Given the description of an element on the screen output the (x, y) to click on. 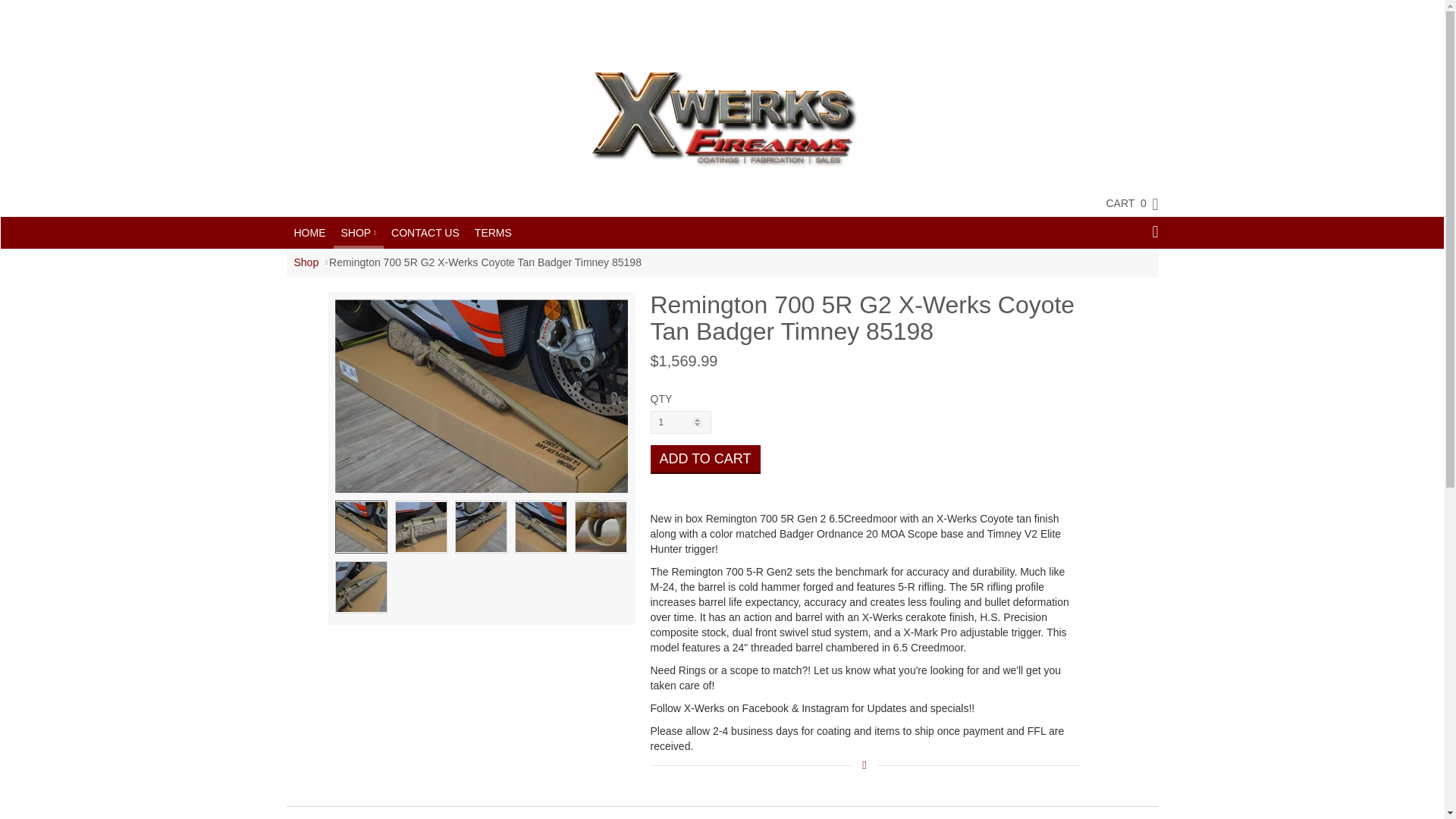
Add to Cart (705, 459)
SHOP (358, 231)
HOME (309, 232)
1 (680, 422)
CART  0   (1123, 203)
